Given the description of an element on the screen output the (x, y) to click on. 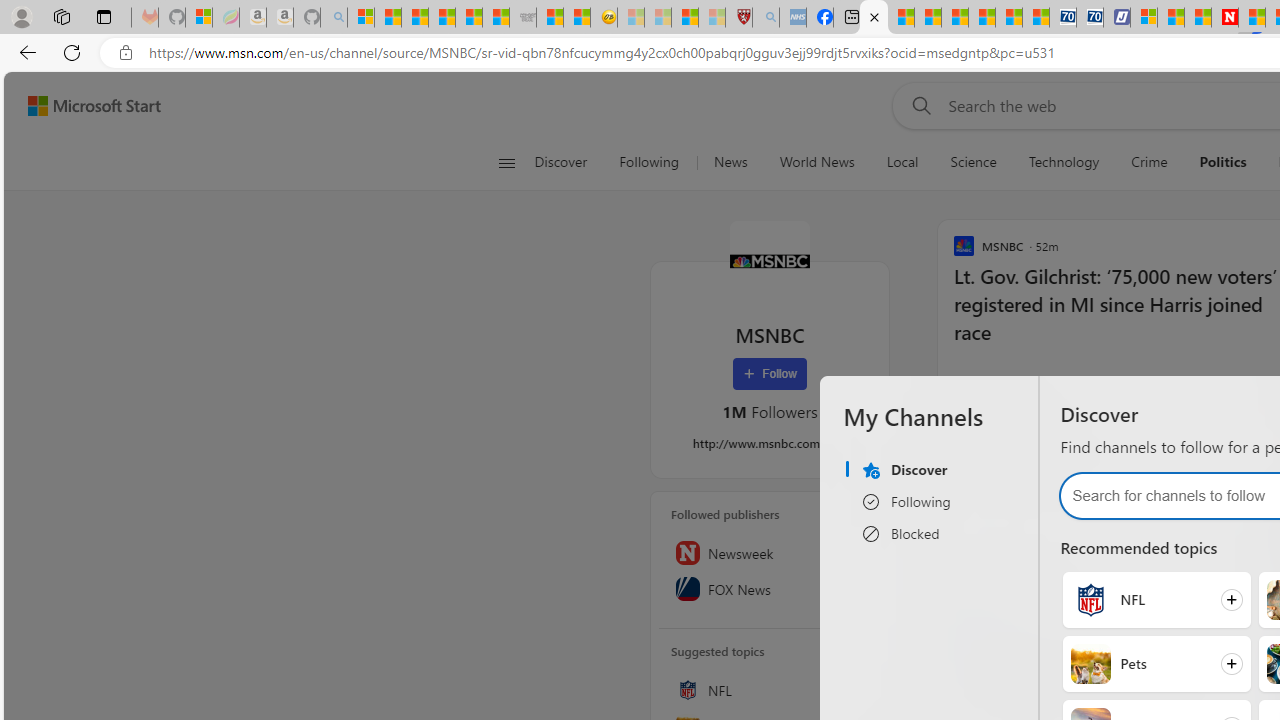
Follow this topic (860, 690)
list of asthma inhalers uk - Search - Sleeping (765, 17)
Manage (854, 512)
Open navigation menu (506, 162)
News (729, 162)
Crime (1149, 162)
World News (817, 162)
New Report Confirms 2023 Was Record Hot | Watch (468, 17)
MSNBC (769, 260)
